Given the description of an element on the screen output the (x, y) to click on. 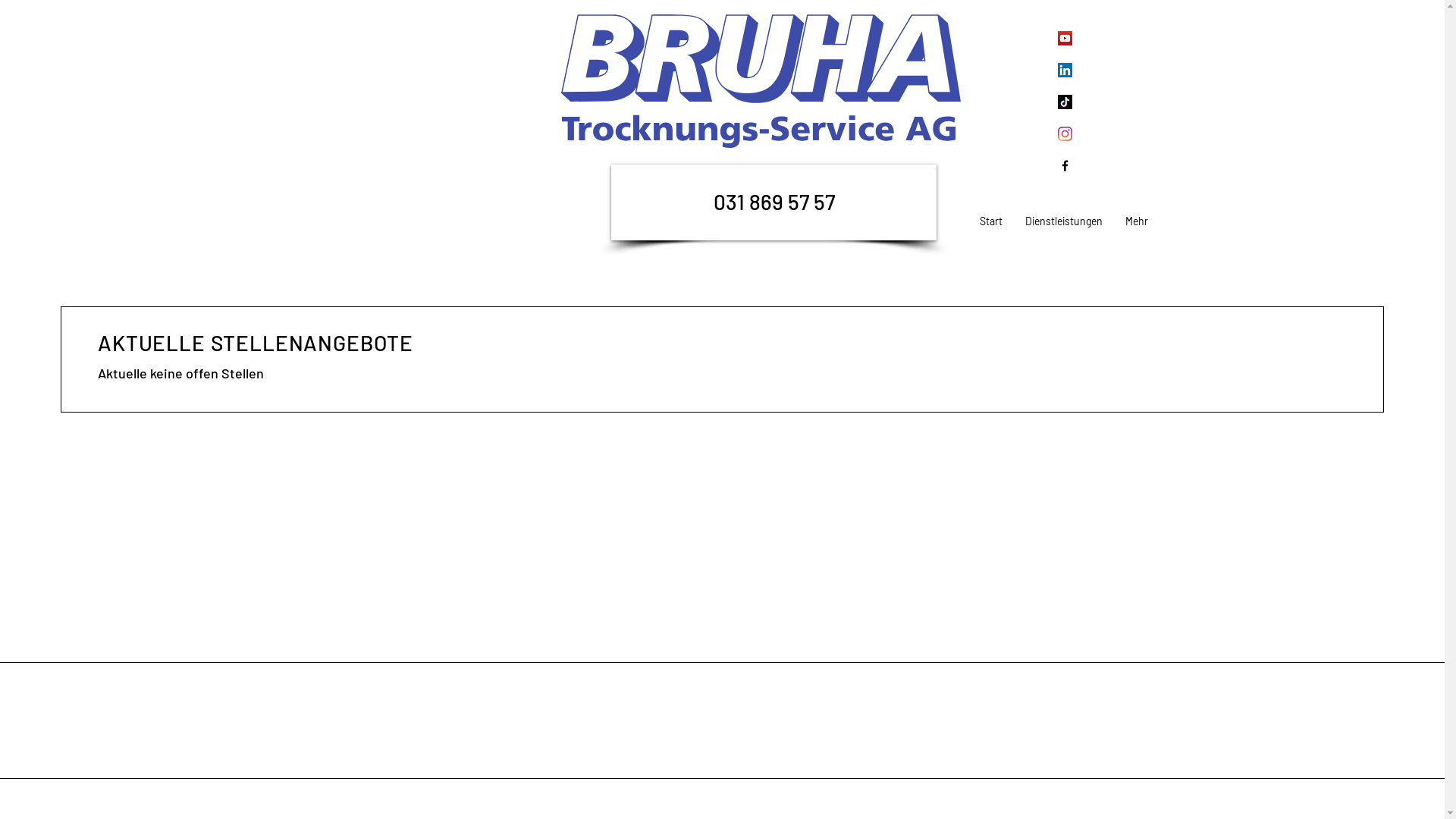
Start Element type: text (990, 221)
Wix.com. Element type: text (508, 798)
Datenschutz Element type: text (747, 719)
031 869 57 57 Element type: text (773, 202)
Impressum Element type: text (744, 694)
Dienstleistungen Element type: text (1063, 221)
info@bruha.ch Element type: text (388, 743)
